Given the description of an element on the screen output the (x, y) to click on. 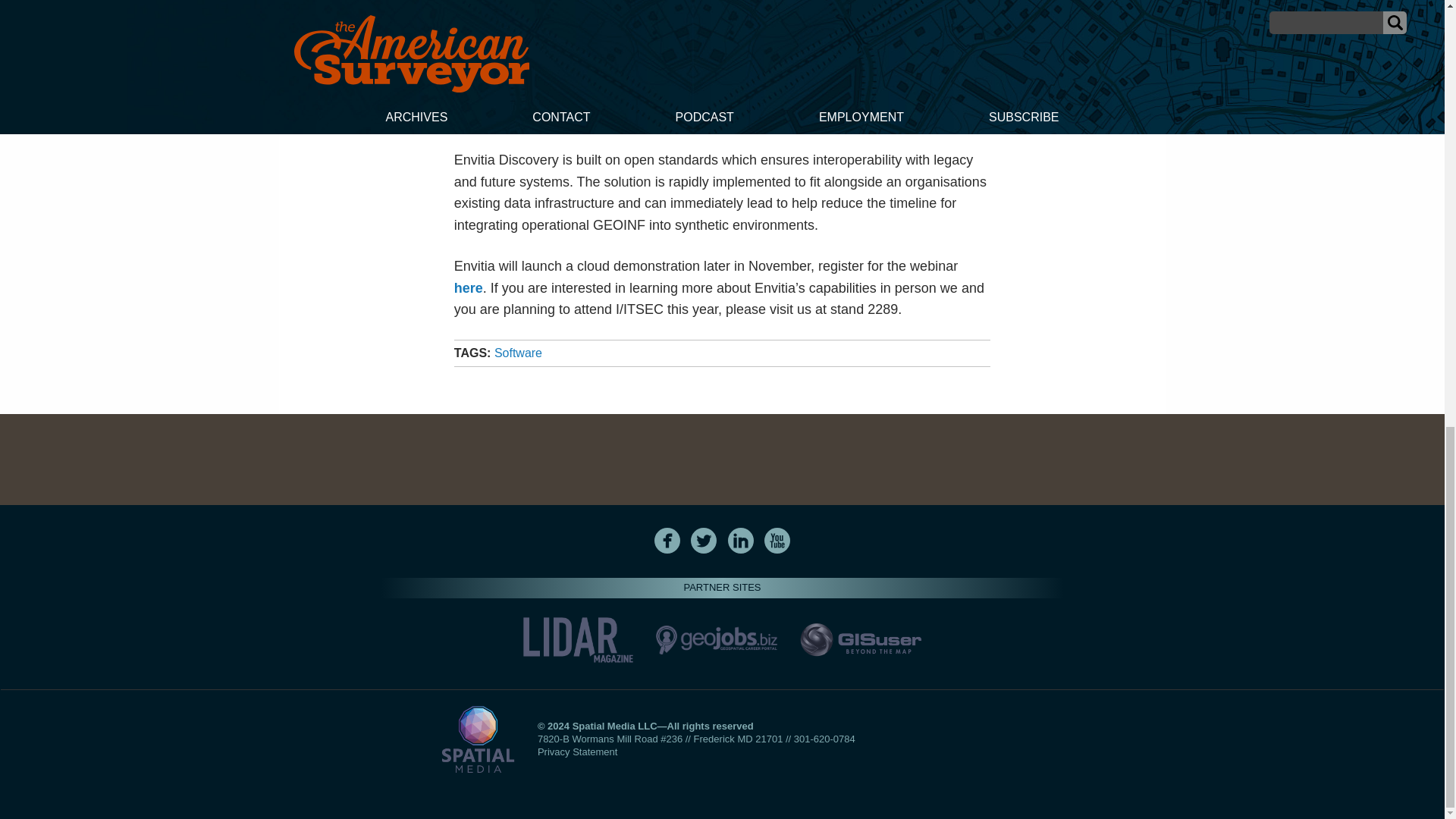
3rd party ad content (721, 459)
icon-sm-linkedin (741, 540)
icon-sm-youtube (777, 540)
Privacy Statement (577, 751)
here (468, 287)
icon-sm-fb (666, 540)
Software (518, 352)
icon-sm-fb (667, 540)
icon-sm-linkedin (740, 540)
icon-sm-youtube (776, 540)
icon-sm-twitter (703, 540)
icon-sm-twitter (703, 540)
